Given the description of an element on the screen output the (x, y) to click on. 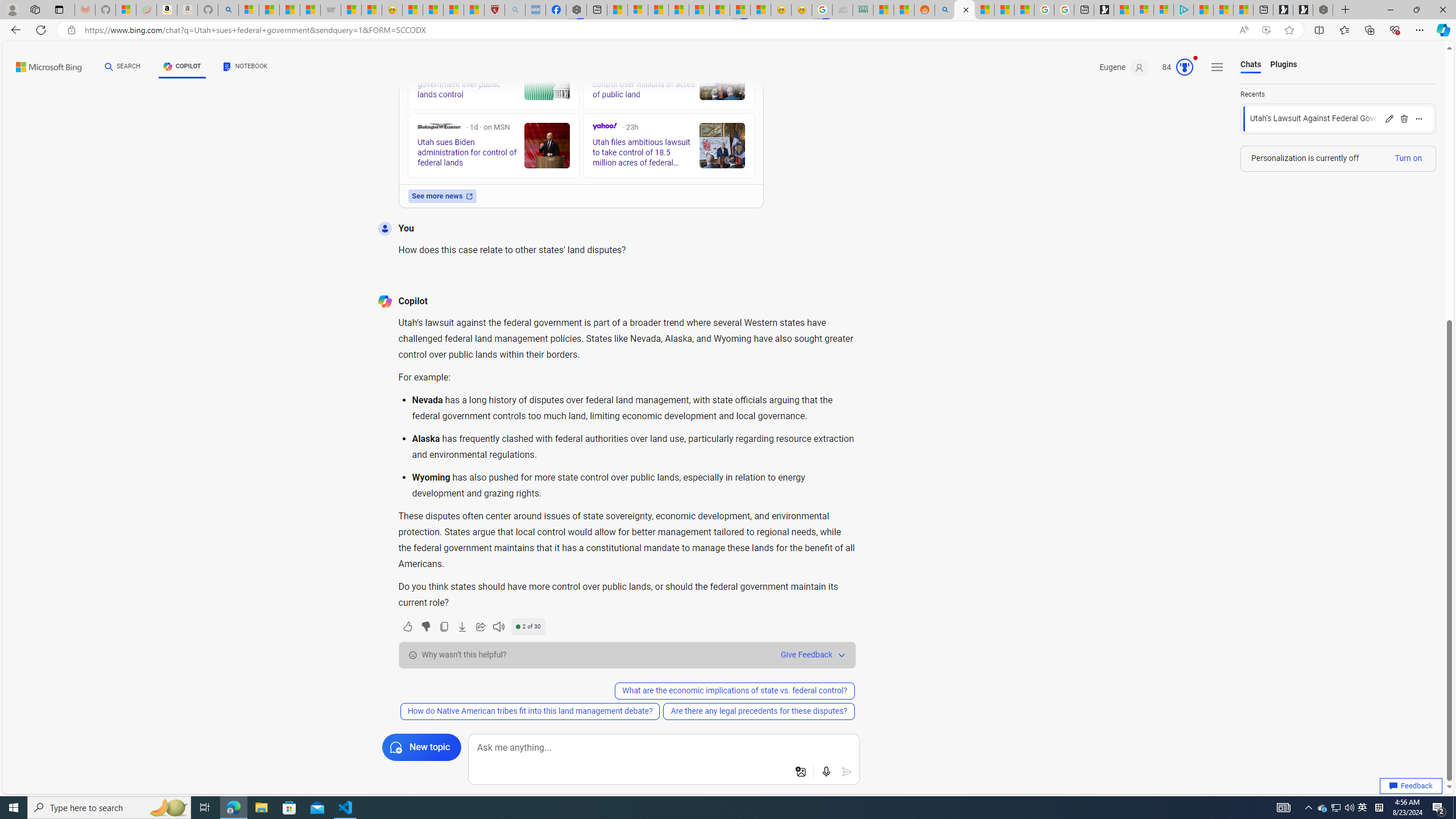
Plugins (1283, 65)
COPILOT (181, 66)
Eugene (1123, 67)
New topic (421, 746)
Are there any legal precedents for these disputes? (758, 711)
